Given the description of an element on the screen output the (x, y) to click on. 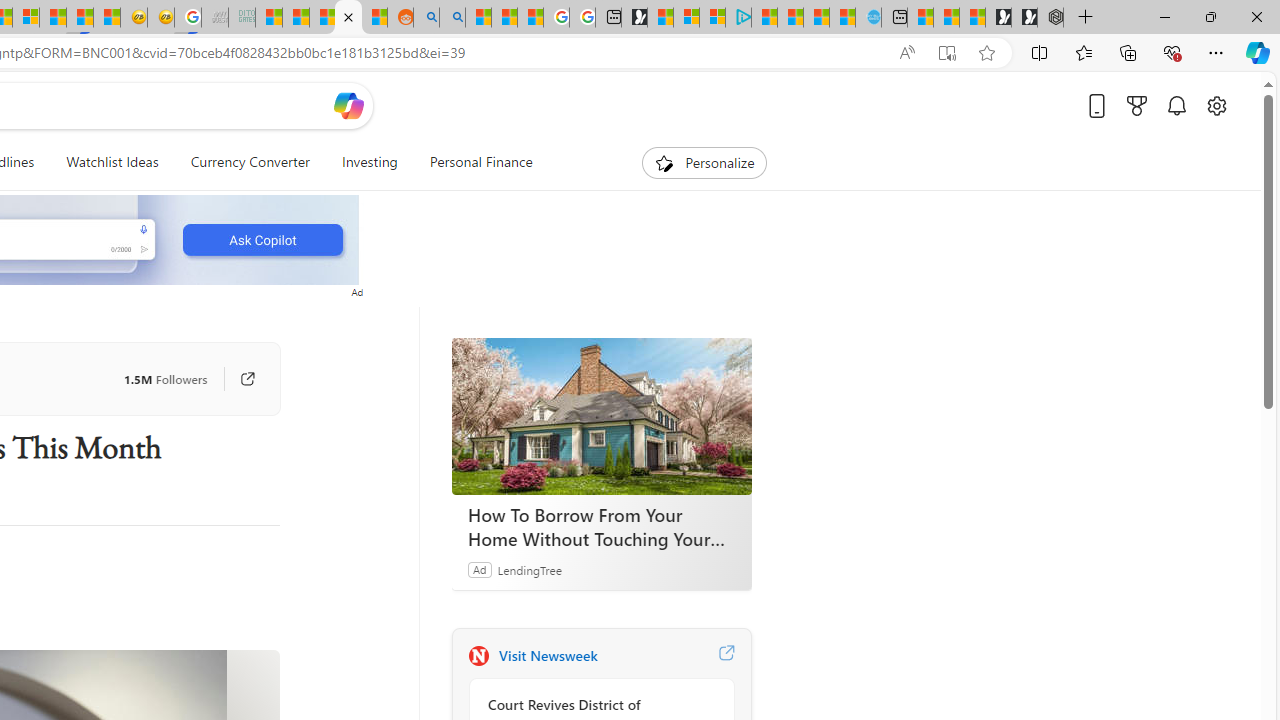
Personal Finance (472, 162)
Currency Converter (250, 162)
Investing (369, 162)
